Given the description of an element on the screen output the (x, y) to click on. 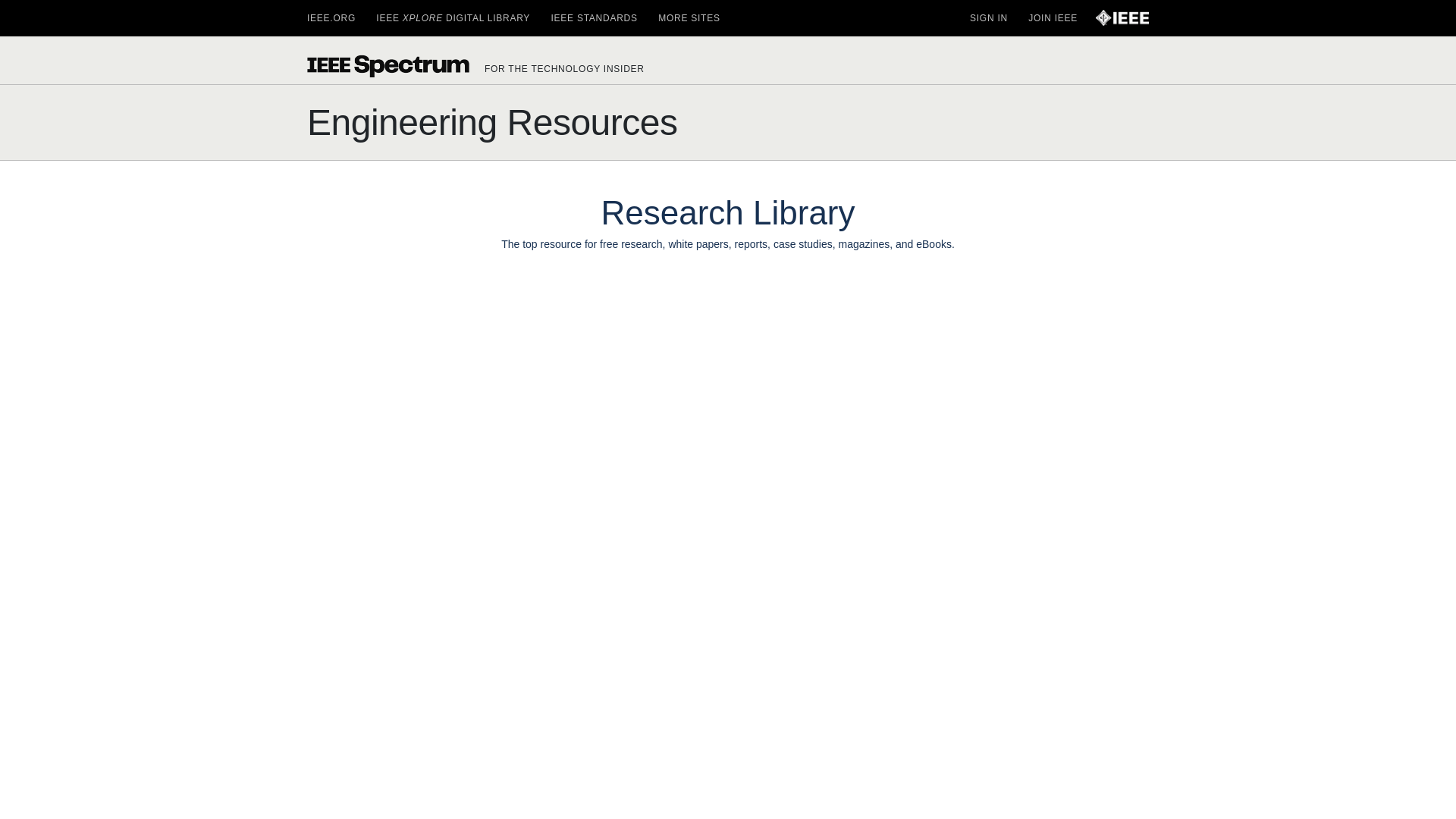
MORE SITES (689, 18)
IEEE.ORG (331, 18)
IEEE STANDARDS (593, 18)
IEEE XPLORE DIGITAL LIBRARY (452, 18)
SIGN IN (988, 18)
JOIN IEEE (1052, 18)
